Given the description of an element on the screen output the (x, y) to click on. 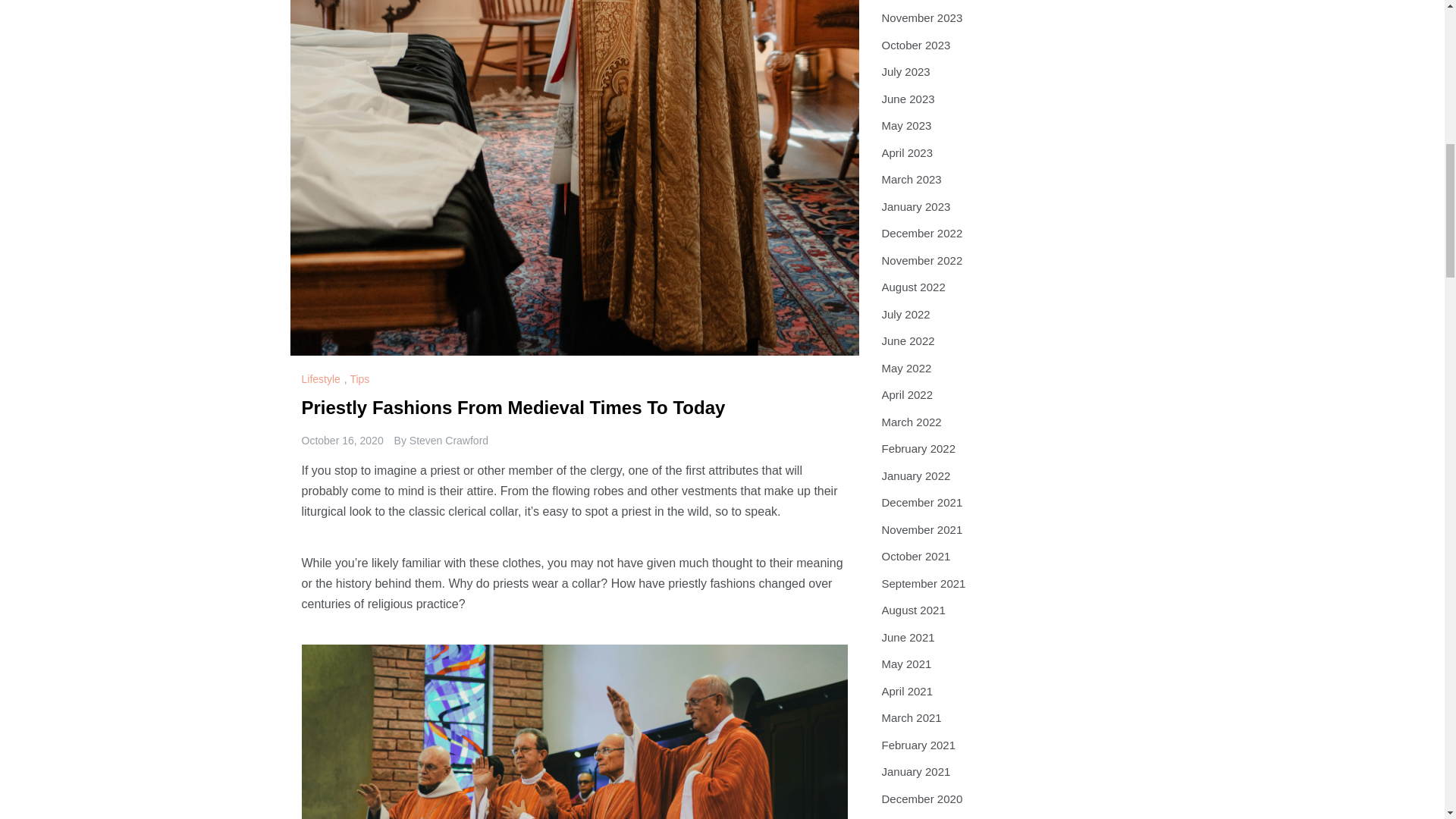
Tips (360, 378)
Lifestyle (322, 378)
Steven Crawford (448, 440)
October 16, 2020 (342, 440)
